Given the description of an element on the screen output the (x, y) to click on. 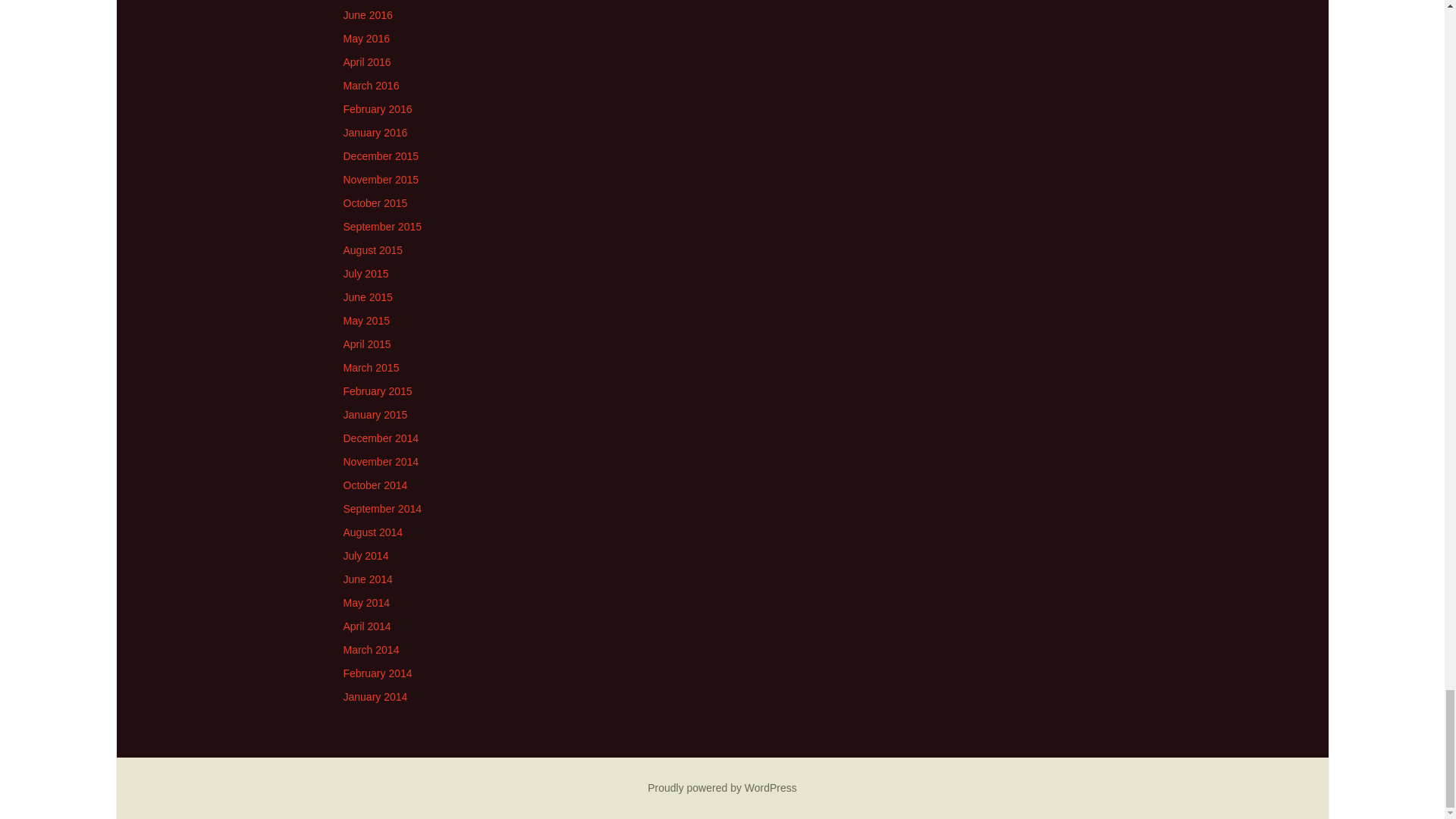
Semantic Personal Publishing Platform (721, 787)
